Given the description of an element on the screen output the (x, y) to click on. 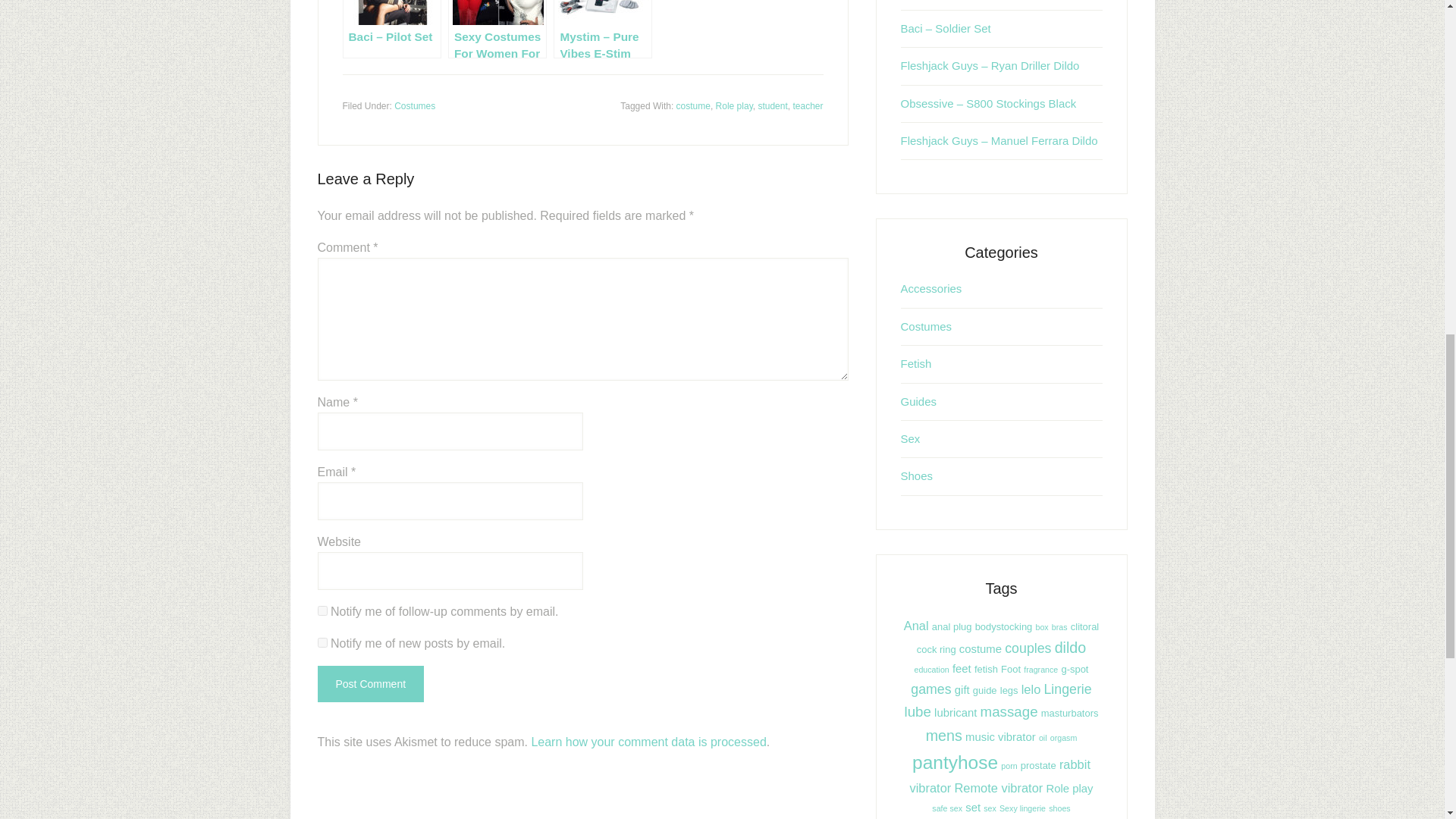
Anal (916, 625)
student (772, 105)
bras (1059, 626)
Post Comment (370, 683)
Shoes (917, 475)
Sexy Costumes For Women For Halloween (497, 29)
Sex (910, 438)
Post Comment (370, 683)
Sexy Costumes For Women For Halloween (497, 29)
Role play (734, 105)
